Given the description of an element on the screen output the (x, y) to click on. 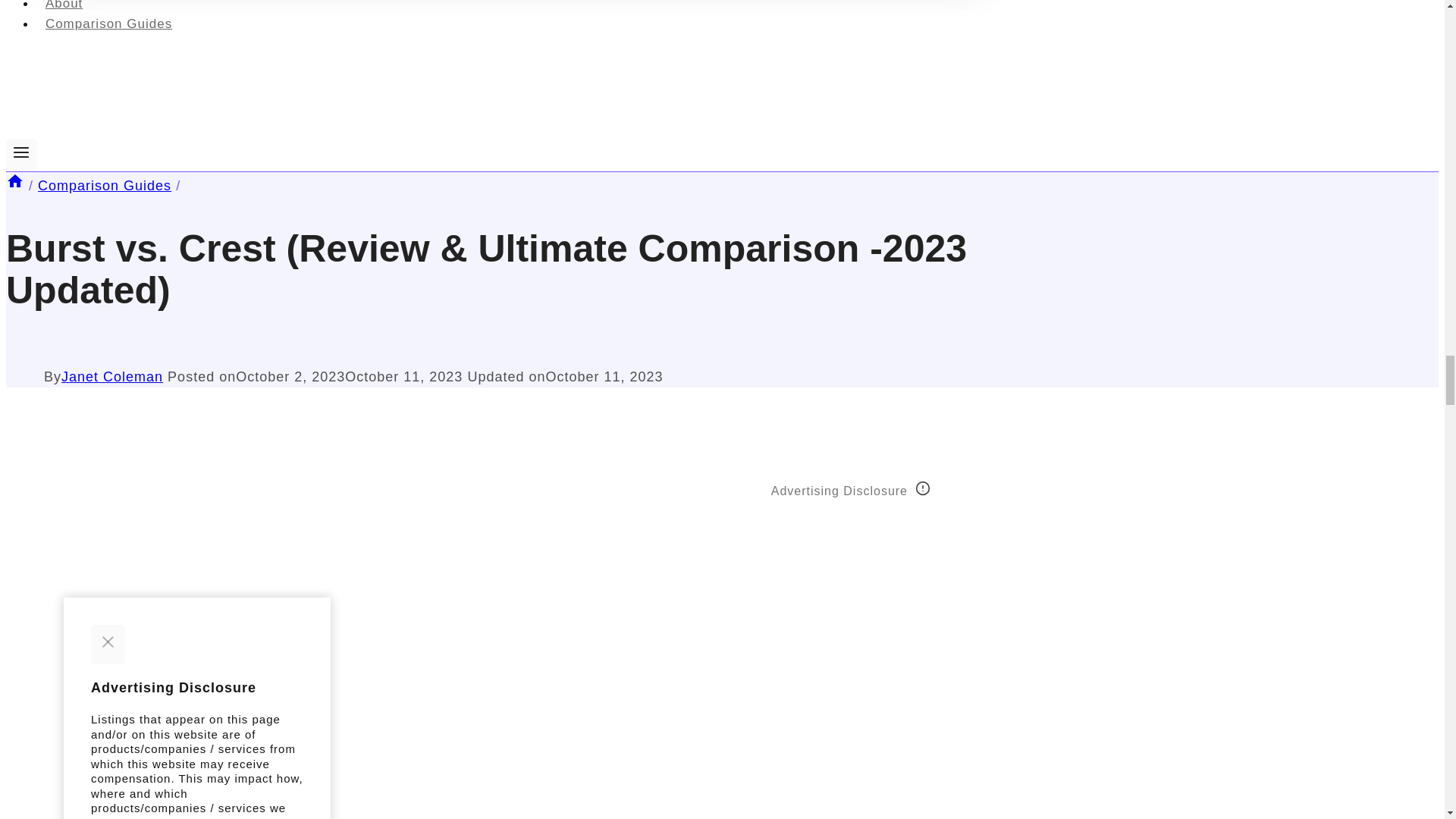
Home (14, 185)
